Given the description of an element on the screen output the (x, y) to click on. 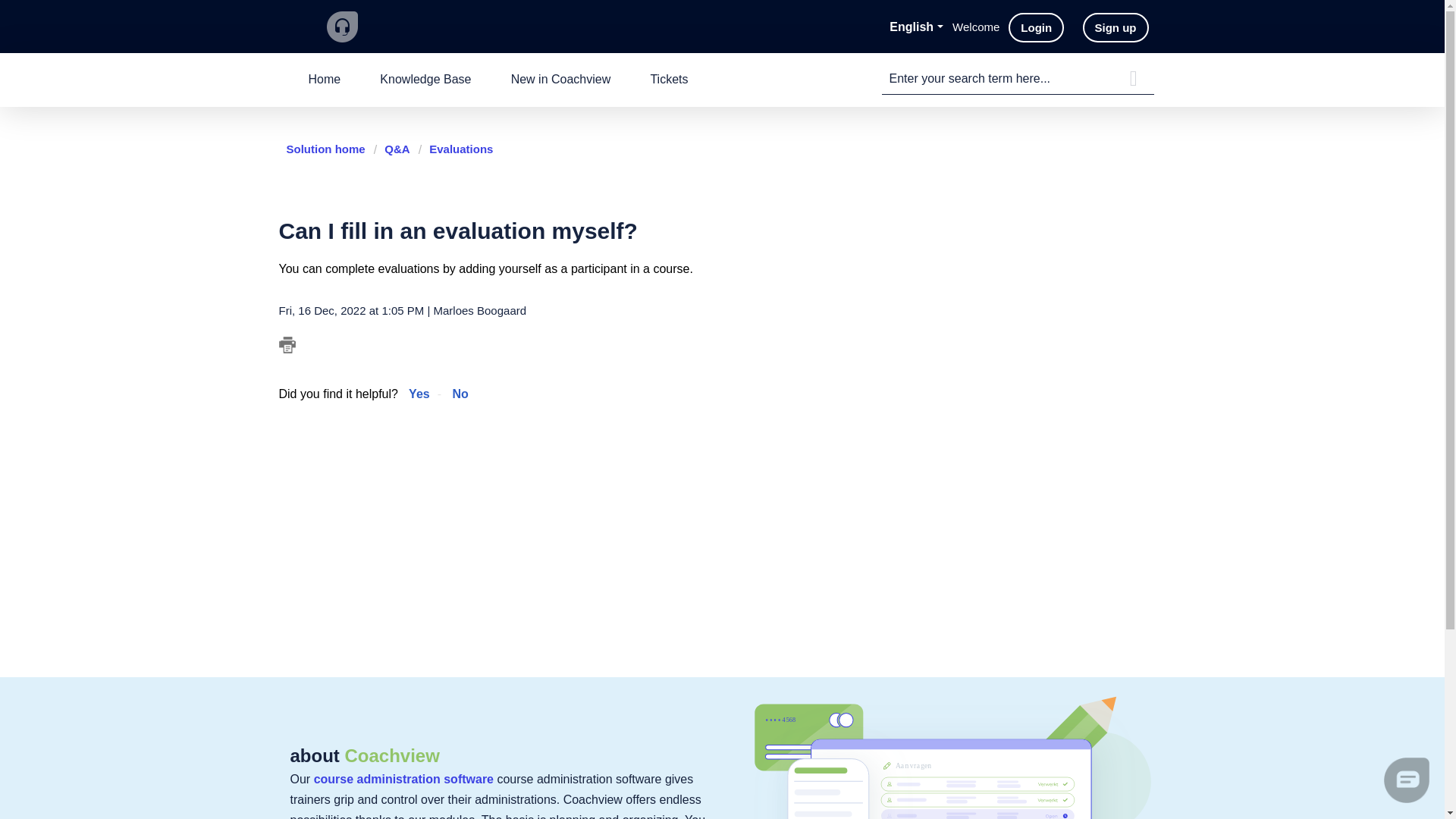
New in Coachview (560, 80)
Login (1036, 27)
Evaluations (456, 148)
Home (323, 80)
Knowledge Base (425, 80)
Sign up (1115, 27)
Print this Article (287, 344)
course administration software (403, 779)
Tickets (668, 80)
Solution home (327, 148)
